Given the description of an element on the screen output the (x, y) to click on. 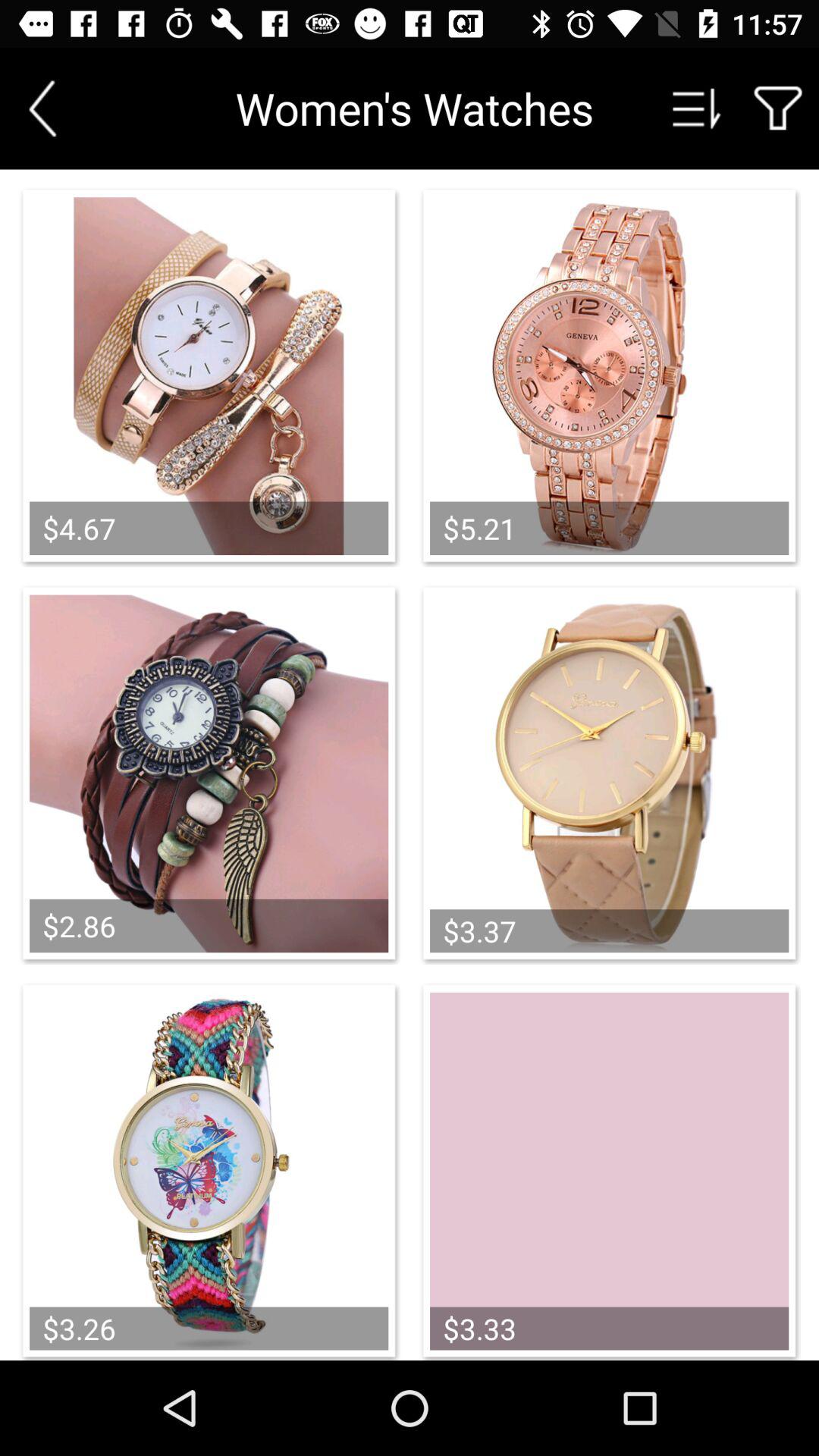
filter menu (778, 108)
